Given the description of an element on the screen output the (x, y) to click on. 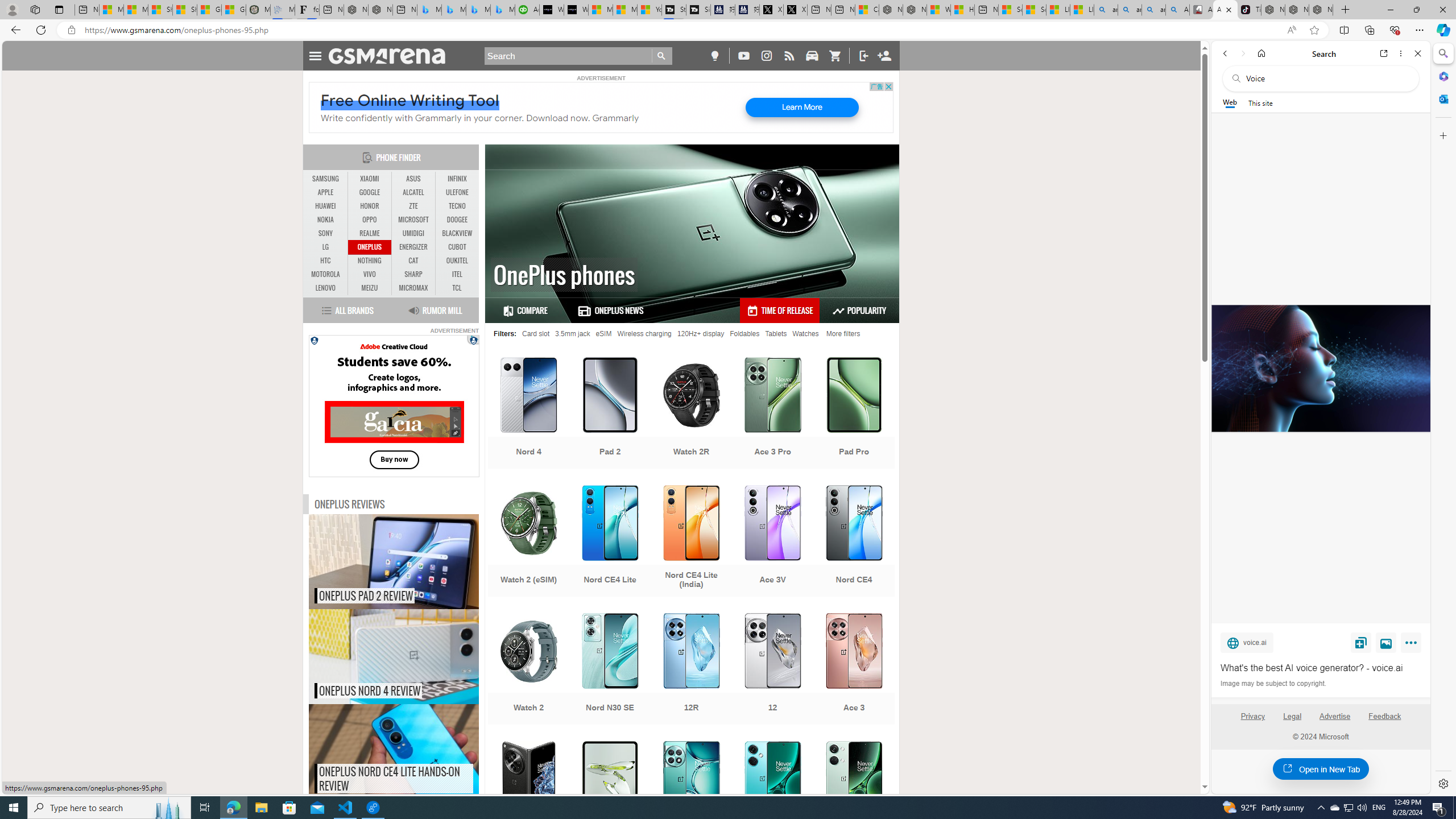
Save (1361, 642)
3.5mm jack (571, 333)
Free Online Writing Tool (409, 100)
Nord CE4 (853, 542)
Click Here (393, 405)
Microsoft Bing Travel - Stays in Bangkok, Bangkok, Thailand (453, 9)
VIVO (369, 273)
voice.ai (1247, 642)
ITEL (457, 273)
